Given the description of an element on the screen output the (x, y) to click on. 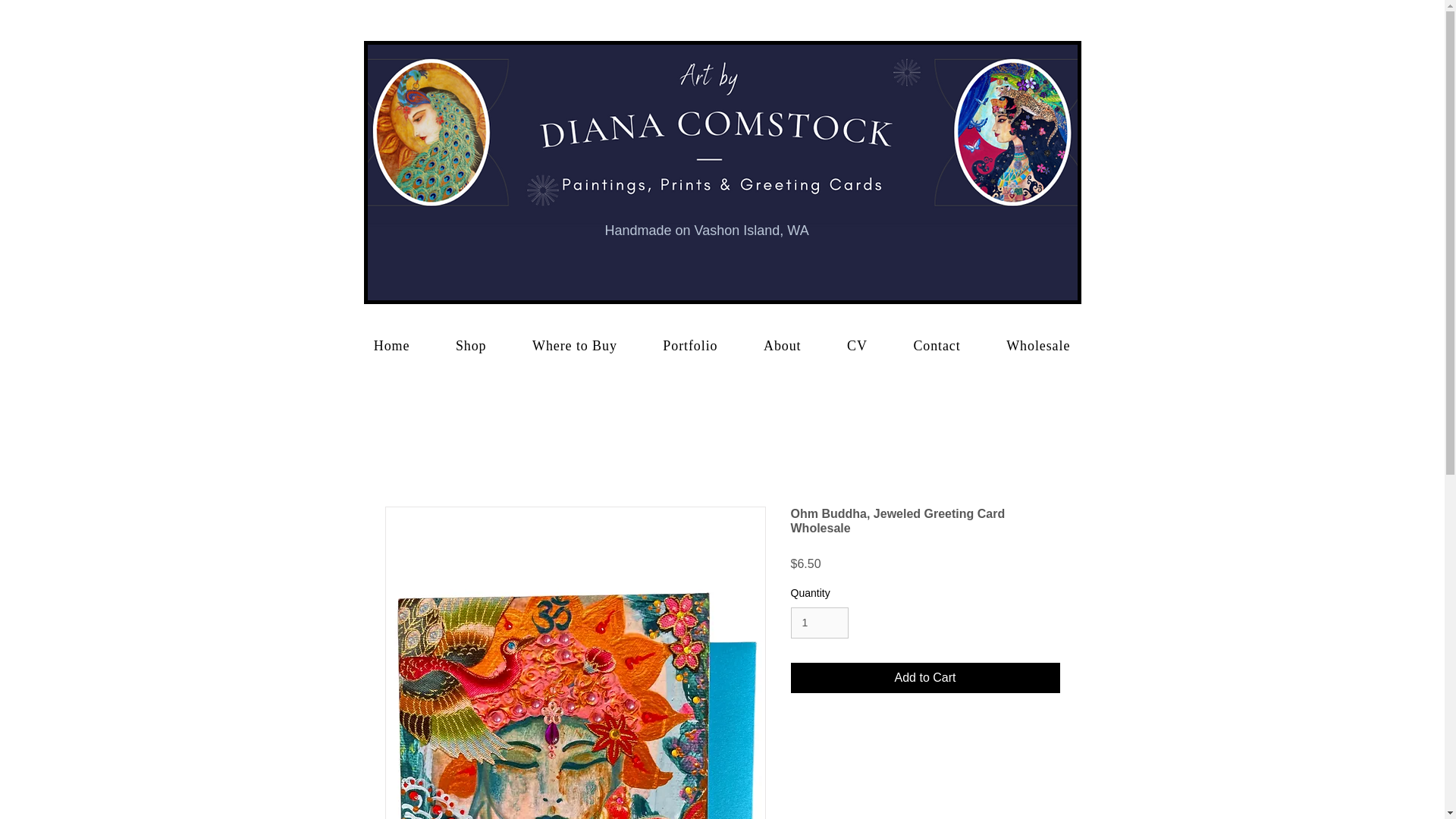
Add to Cart (924, 677)
1 (818, 622)
Portfolio (690, 346)
Home (391, 346)
About (782, 346)
Where to Buy (574, 346)
CV (856, 346)
Contact (936, 346)
